Given the description of an element on the screen output the (x, y) to click on. 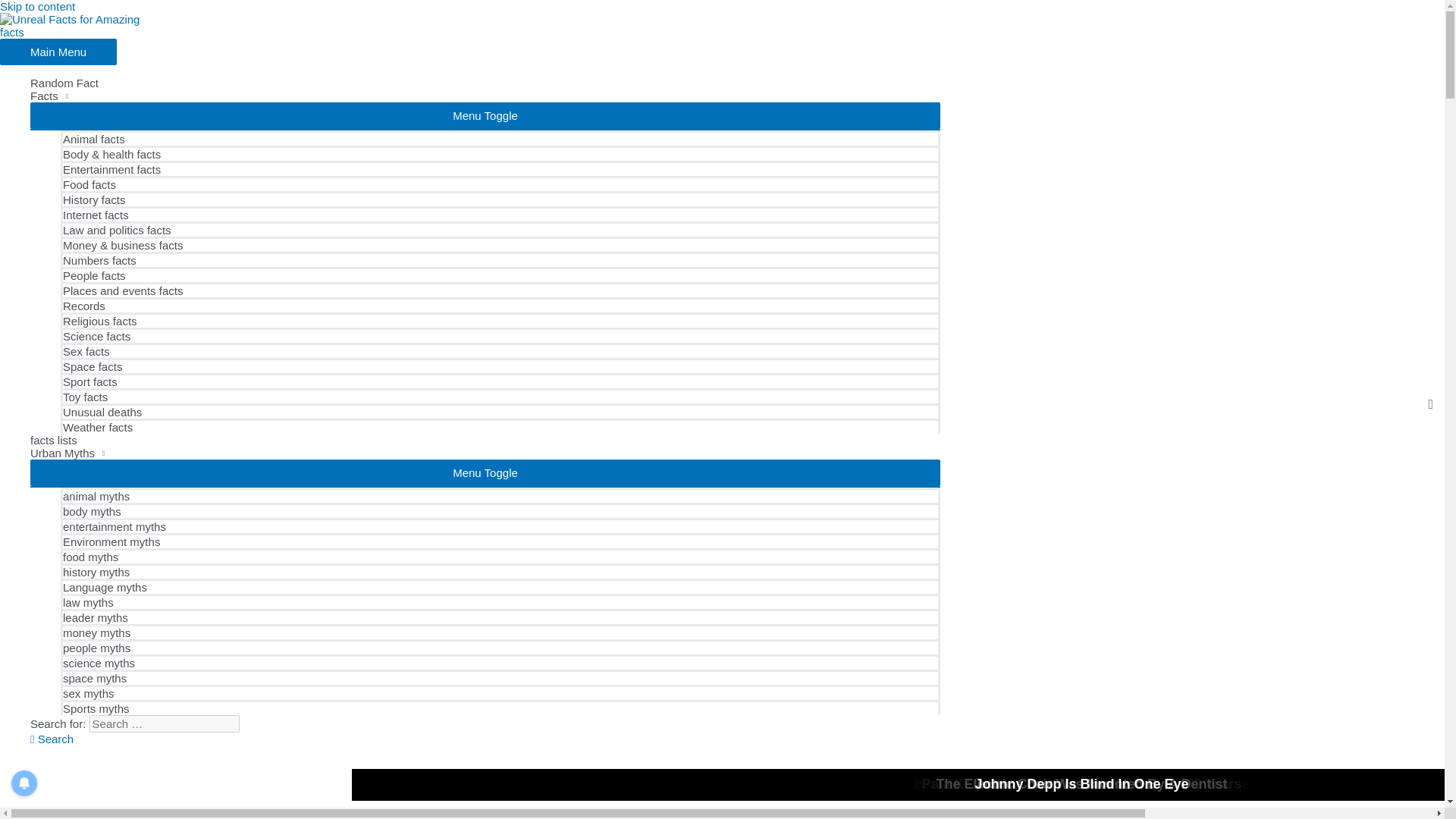
Unusual deaths (500, 410)
Toy facts (500, 395)
Space facts (500, 365)
Entertainment facts (500, 168)
Random Fact (485, 82)
Facts (485, 95)
Language myths (500, 585)
entertainment myths (500, 525)
history myths (500, 570)
Skip to content (37, 6)
Religious facts (500, 319)
Law and politics facts (500, 228)
Records (500, 304)
History facts (500, 198)
money myths (500, 631)
